Given the description of an element on the screen output the (x, y) to click on. 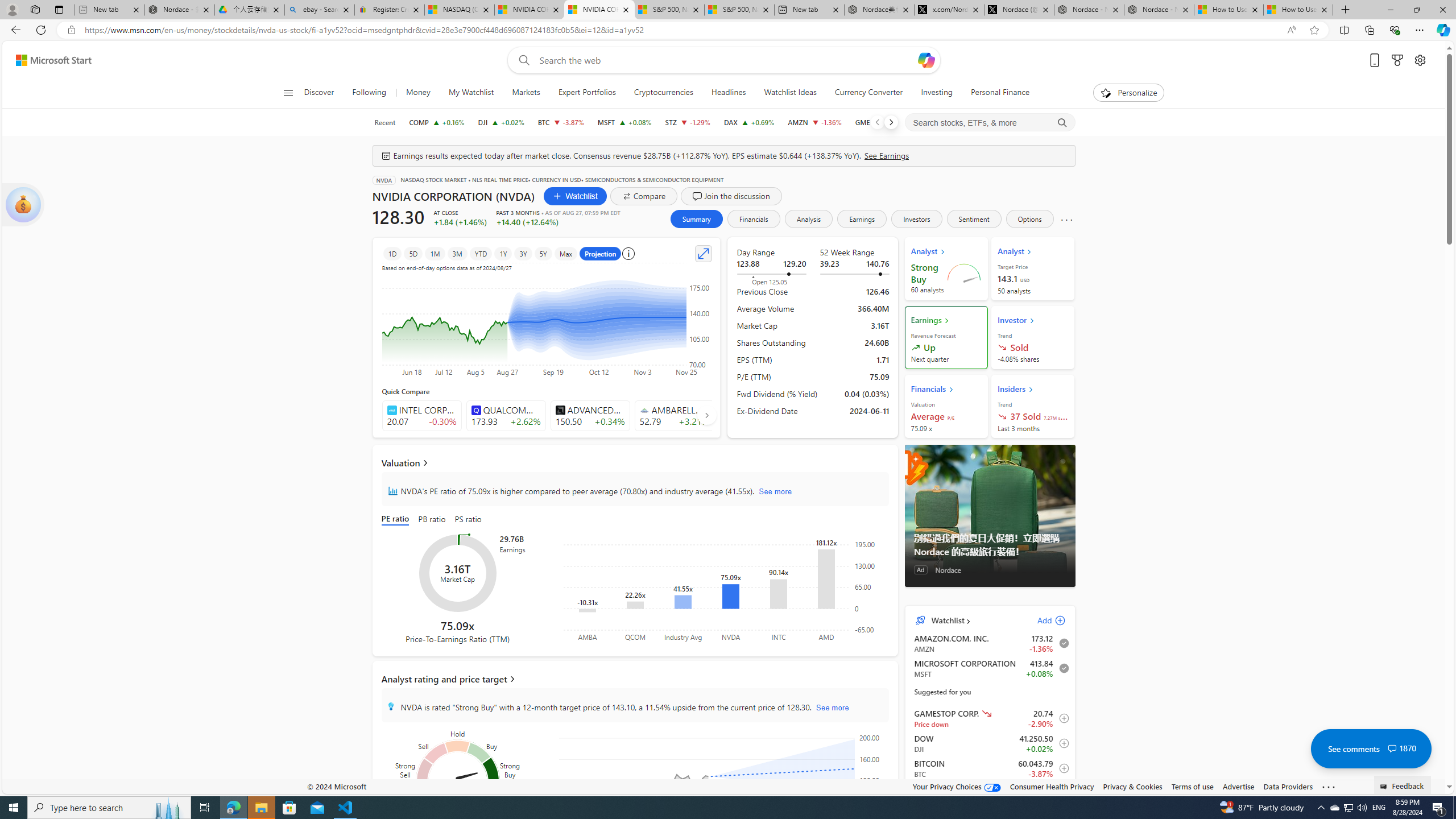
Terms of use (1192, 785)
Recent (385, 121)
Next (890, 122)
Advertise (1238, 786)
x.com/NordaceOfficial (949, 9)
Class: autoSuggestIcon-DS-EntryPoint1-1 (644, 409)
3M (456, 253)
Watchlist Ideas (789, 92)
